Given the description of an element on the screen output the (x, y) to click on. 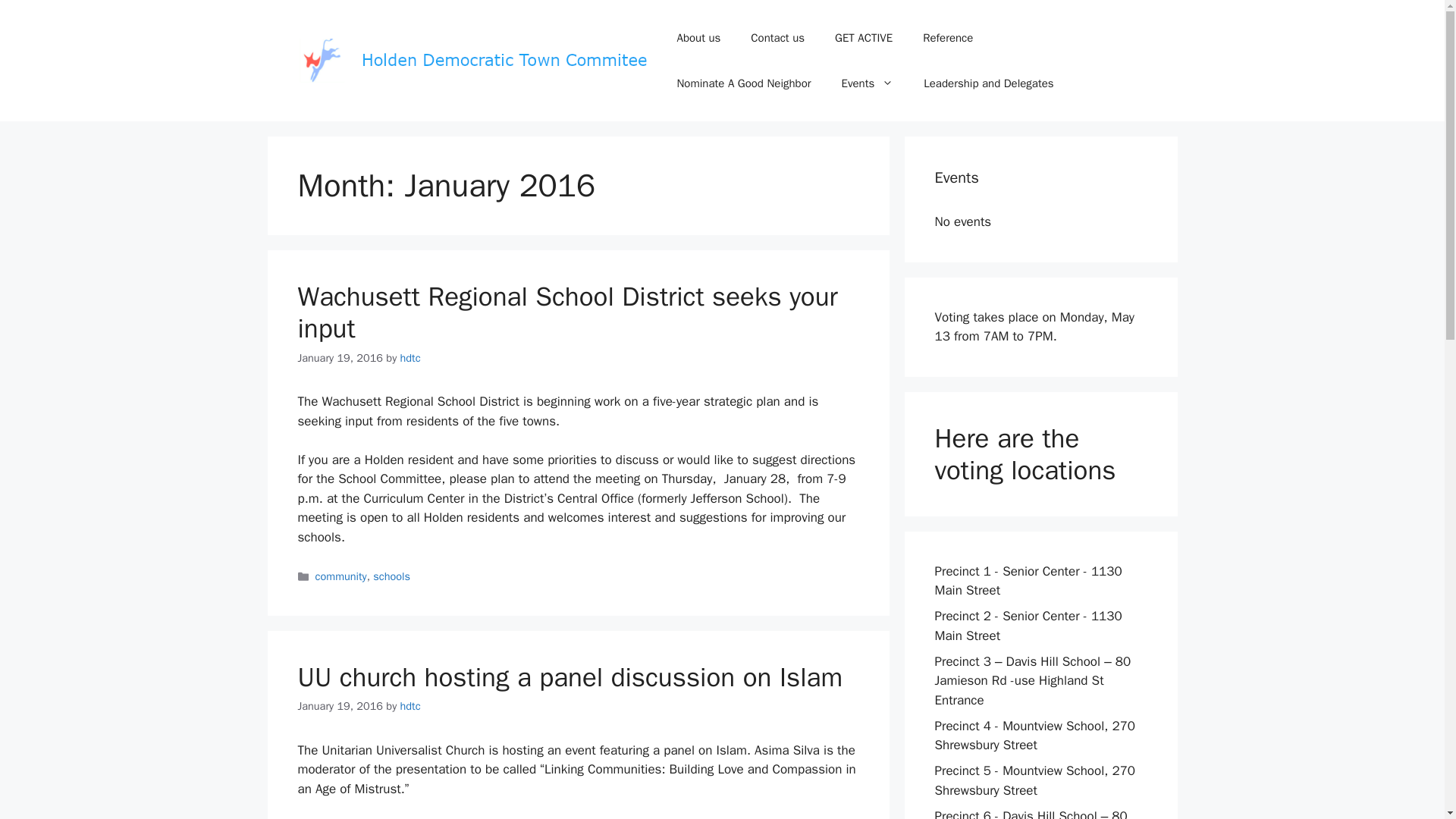
hdtc (410, 357)
About us (698, 37)
schools (391, 576)
Nominate A Good Neighbor (743, 83)
hdtc (410, 705)
UU church hosting a panel discussion on Islam (570, 676)
View all posts by hdtc (410, 357)
Reference (947, 37)
Leadership and Delegates (988, 83)
community (340, 576)
